Given the description of an element on the screen output the (x, y) to click on. 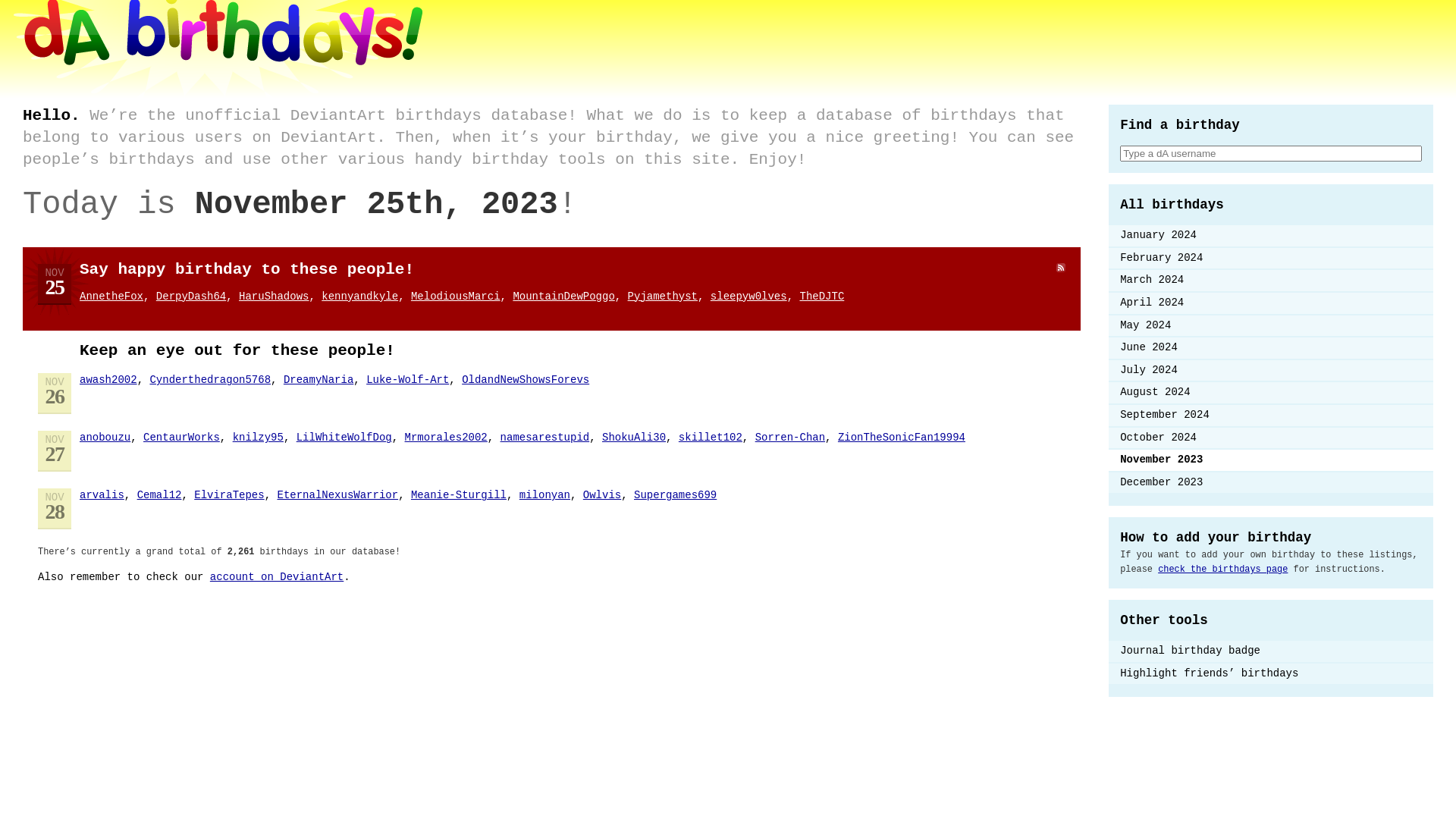
July 2024 Element type: text (1270, 370)
September 2024 Element type: text (1270, 415)
Journal birthday badge Element type: text (1270, 651)
skillet102 Element type: text (710, 437)
ElviraTepes Element type: text (228, 495)
October 2024 Element type: text (1270, 437)
January 2024 Element type: text (1270, 235)
check the birthdays page Element type: text (1222, 569)
AnnetheFox Element type: text (111, 295)
Cemal12 Element type: text (159, 495)
MelodiousMarci Element type: text (455, 295)
account on DeviantArt Element type: text (276, 577)
DreamyNaria Element type: text (318, 379)
Cynderthedragon5768 Element type: text (209, 379)
May 2024 Element type: text (1270, 325)
anobouzu Element type: text (104, 437)
Luke-Wolf-Art Element type: text (407, 379)
EternalNexusWarrior Element type: text (337, 495)
kennyandkyle Element type: text (359, 295)
sleepyw0lves Element type: text (748, 295)
February 2024 Element type: text (1270, 258)
December 2023 Element type: text (1270, 482)
namesarestupid Element type: text (544, 437)
ShokuAli30 Element type: text (633, 437)
DerpyDash64 Element type: text (190, 295)
arvalis Element type: text (101, 495)
LilWhiteWolfDog Element type: text (344, 437)
TheDJTC Element type: text (821, 295)
Mrmorales2002 Element type: text (445, 437)
MountainDewPoggo Element type: text (563, 295)
Meanie-Sturgill Element type: text (458, 495)
awash2002 Element type: text (108, 379)
OldandNewShowsForevs Element type: text (525, 379)
Supergames699 Element type: text (674, 495)
March 2024 Element type: text (1270, 280)
Pyjamethyst Element type: text (662, 295)
April 2024 Element type: text (1270, 302)
Owlvis Element type: text (602, 495)
June 2024 Element type: text (1270, 347)
November 2023 Element type: text (1270, 459)
Sorren-Chan Element type: text (790, 437)
HaruShadows Element type: text (273, 295)
August 2024 Element type: text (1270, 392)
A feed of today's birthdays! Element type: hover (1060, 269)
CentaurWorks Element type: text (181, 437)
ZionTheSonicFan19994 Element type: text (901, 437)
Click here to go to the front page Element type: hover (211, 96)
milonyan Element type: text (544, 495)
knilzy95 Element type: text (257, 437)
